Given the description of an element on the screen output the (x, y) to click on. 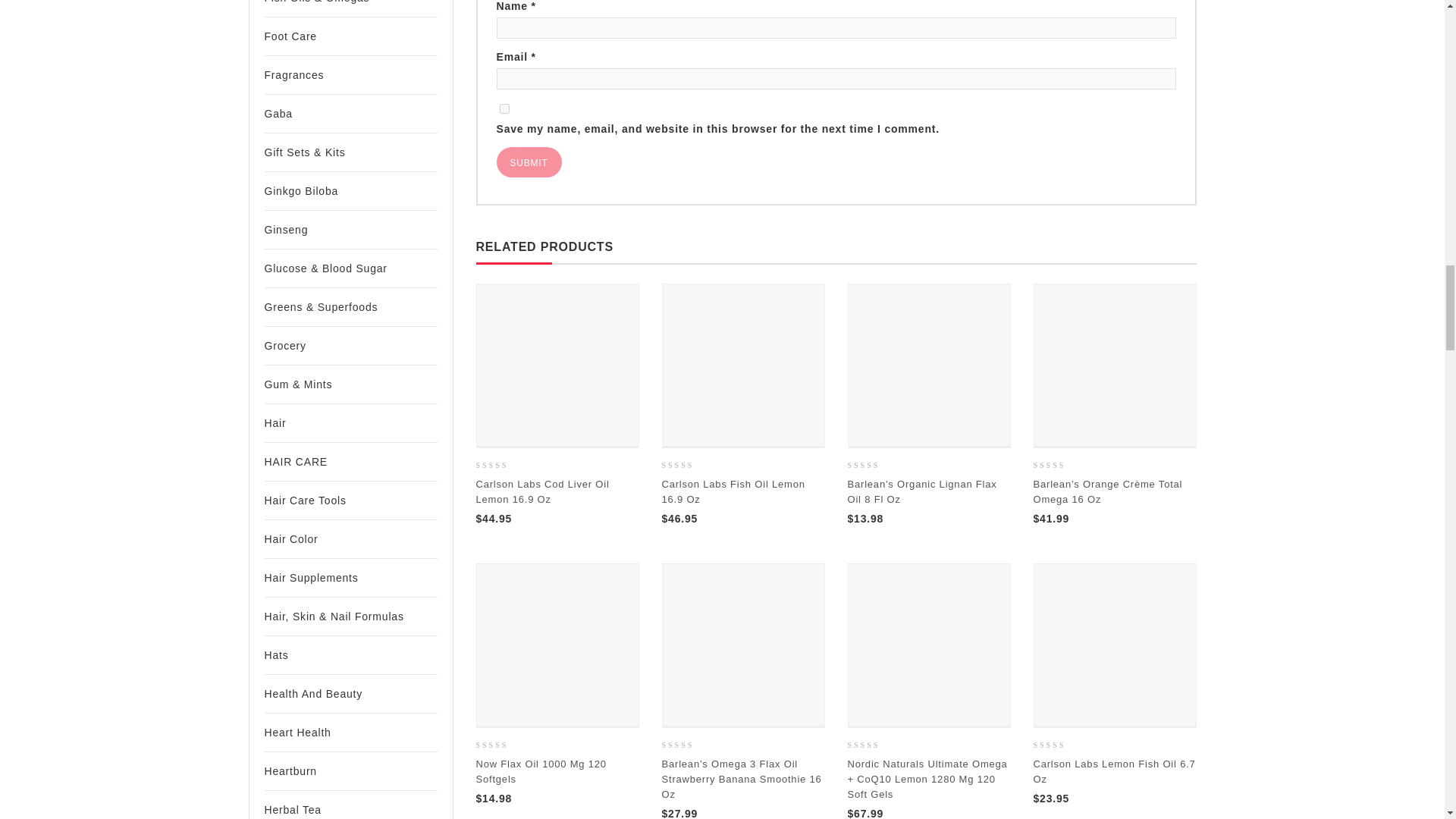
Not yet rated (500, 466)
Not yet rated (500, 745)
yes (503, 108)
Submit (528, 162)
Not yet rated (685, 466)
Not yet rated (871, 466)
Not yet rated (1056, 466)
